Given the description of an element on the screen output the (x, y) to click on. 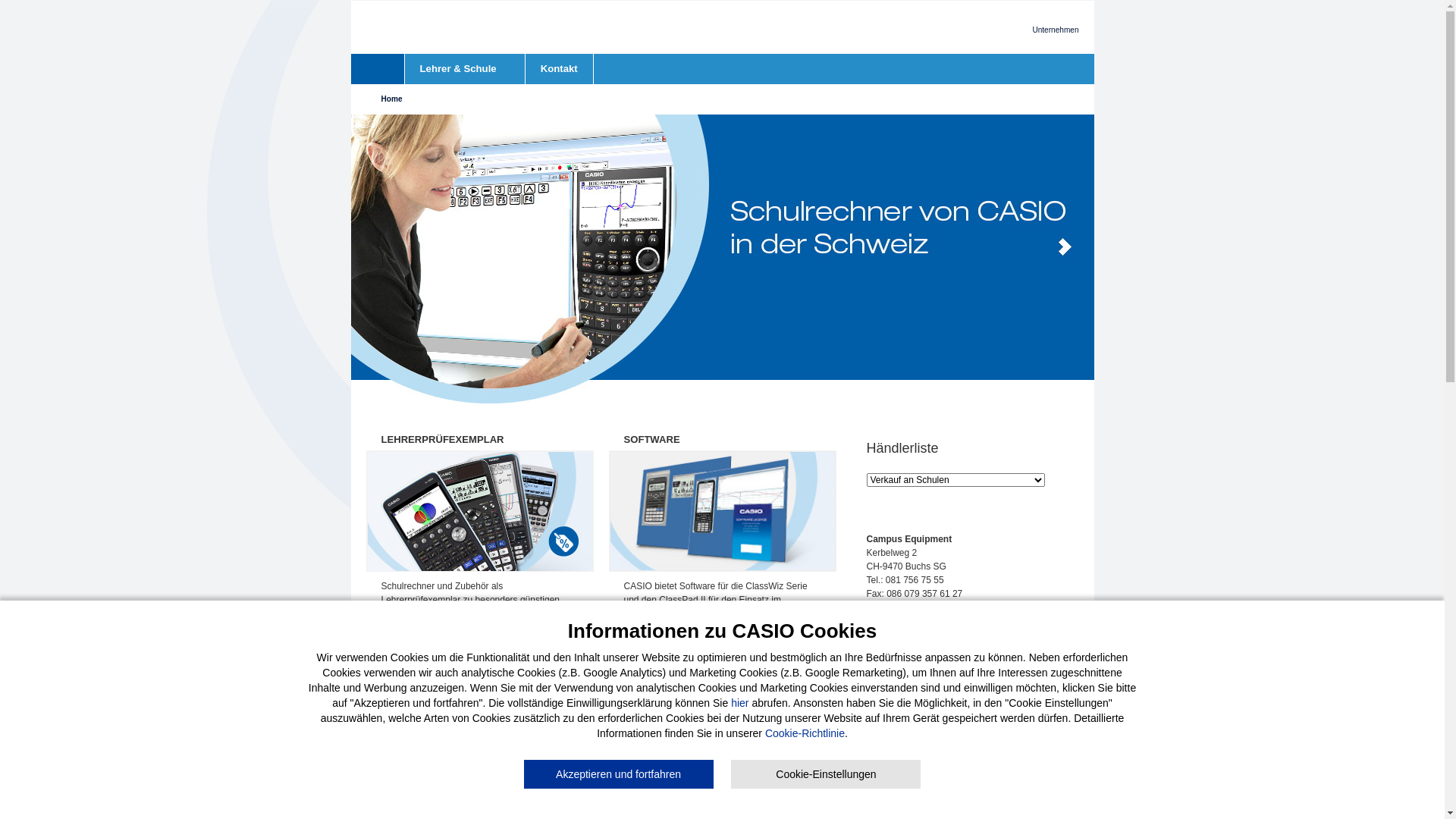
Cookie-Richtlinie Element type: text (804, 732)
Kontakt Element type: text (559, 68)
vorburger@taschenrechner.ch Element type: text (927, 607)
Zur Software Element type: text (659, 687)
hier Element type: text (739, 702)
Lehrer & Schule Element type: text (464, 68)
MATHEMATIK IM FOKUS Element type: text (869, 352)
CASIO Schulrechner Element type: text (737, 26)
Jetzt ansehen Element type: text (776, 455)
Akzeptieren und fortfahren Element type: text (618, 773)
Unternehmen Element type: text (1055, 29)
flavio.catricala@diamron.ch Element type: text (922, 725)
Homepage Element type: text (384, 68)
Cookie-Einstellungen Element type: text (825, 773)
www.taschenrechner.ch Element type: text (914, 620)
http://www.calculators.ch/ Element type: text (917, 739)
Jetzt bestellen Element type: text (421, 646)
